Given the description of an element on the screen output the (x, y) to click on. 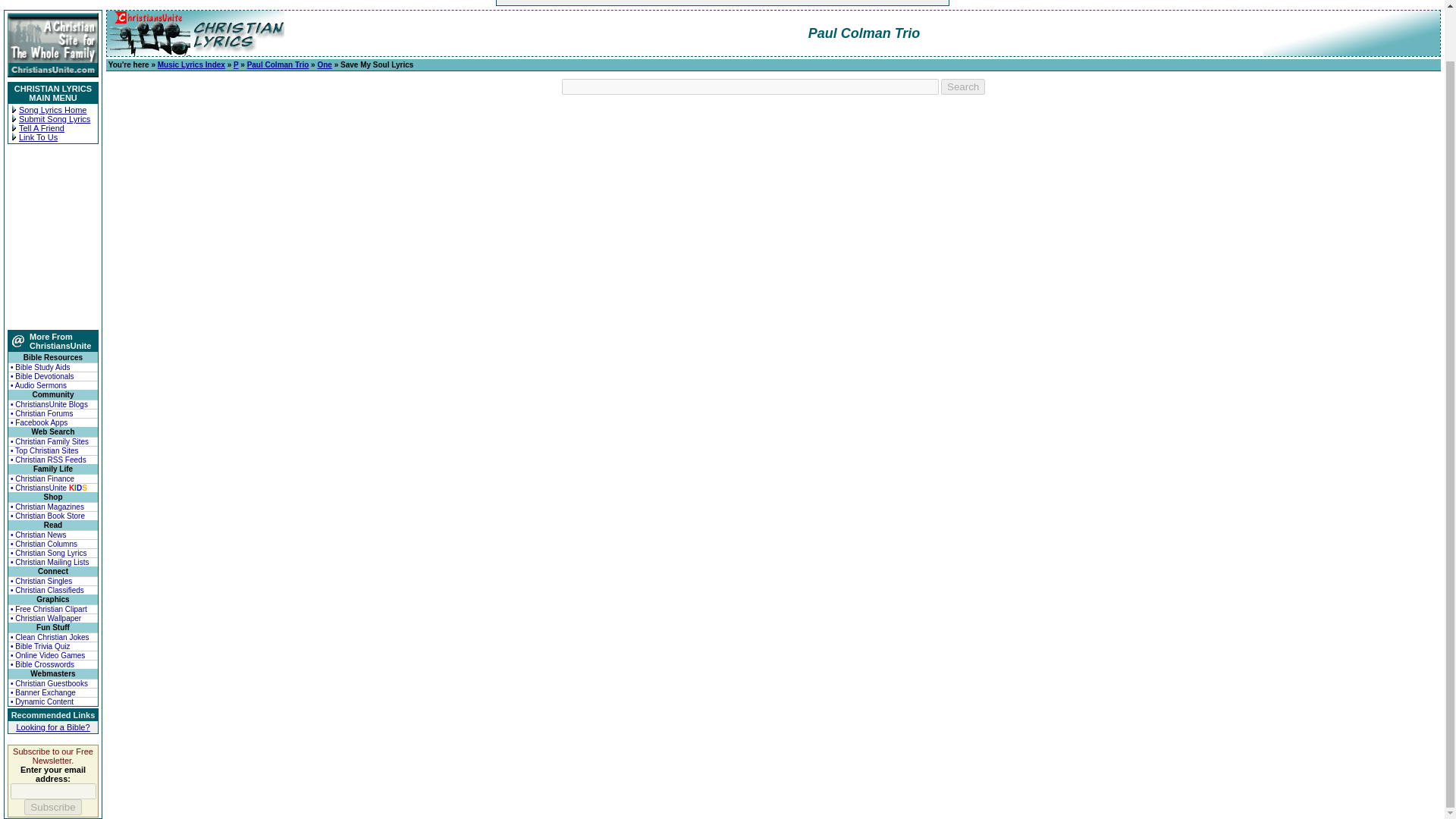
One (324, 64)
Link To Us (38, 136)
Music Lyrics Index (191, 64)
Looking for a Bible? (52, 727)
Song Lyrics Home (51, 109)
Subscribe (52, 806)
Search (962, 86)
Subscribe (52, 806)
P (235, 64)
Tell A Friend (41, 127)
Submit Song Lyrics (54, 118)
Paul Colman Trio (277, 64)
